Given the description of an element on the screen output the (x, y) to click on. 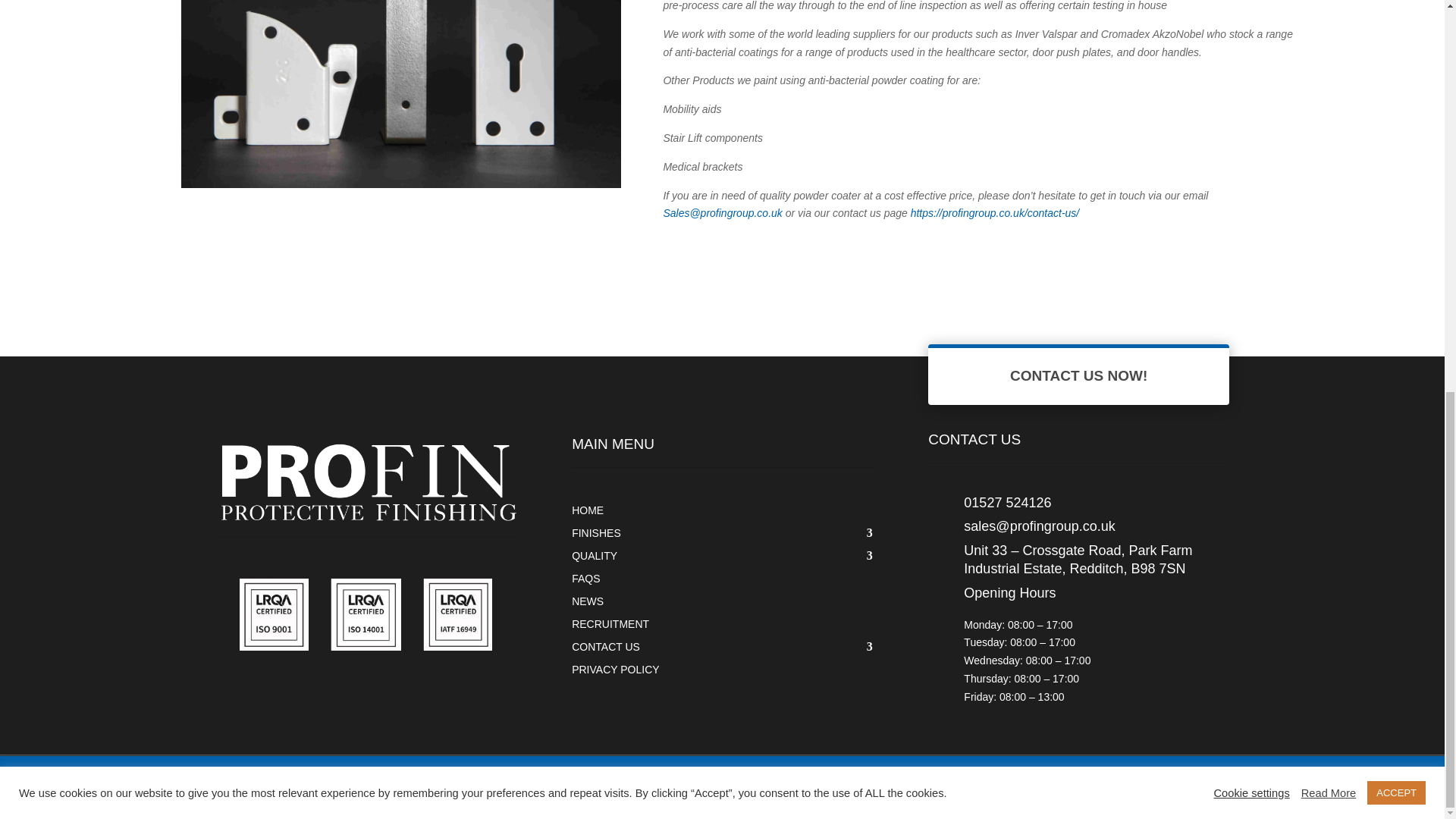
HOME (722, 506)
